Given the description of an element on the screen output the (x, y) to click on. 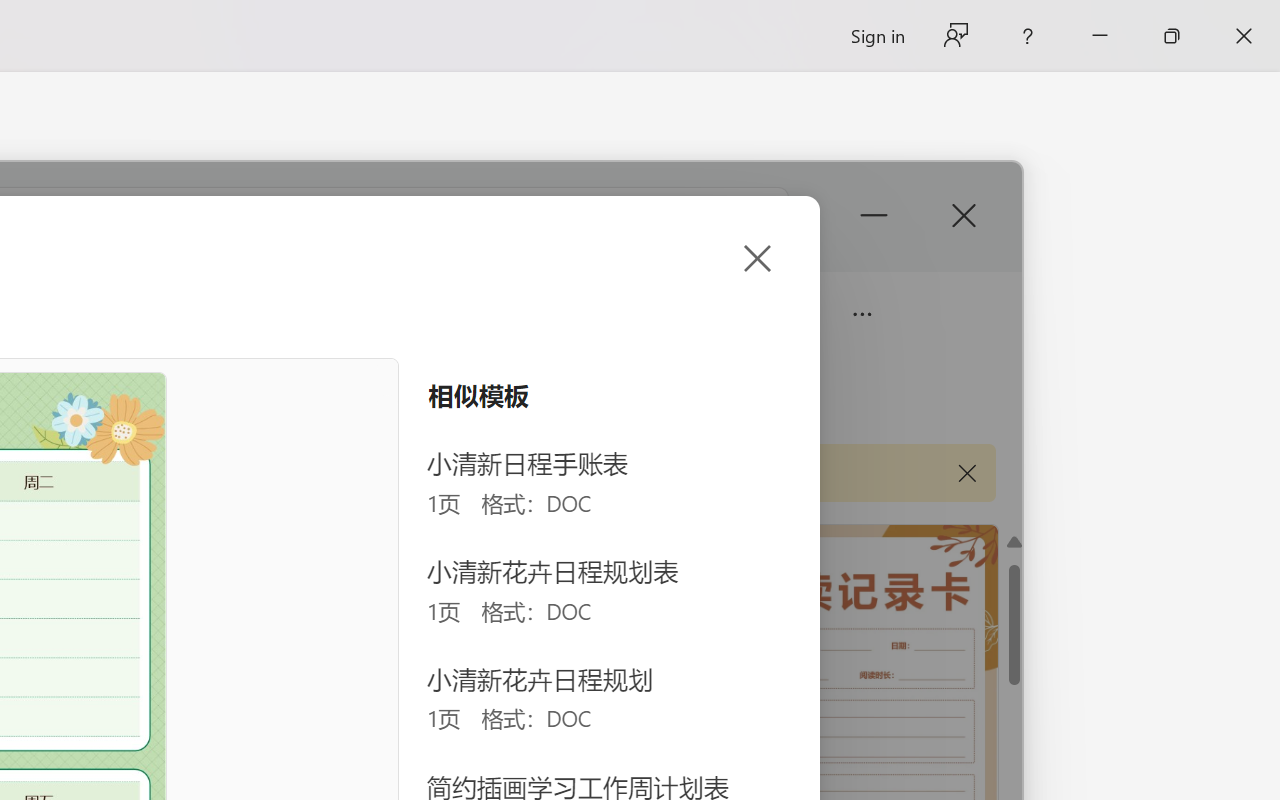
Sign in (875, 35)
